Given the description of an element on the screen output the (x, y) to click on. 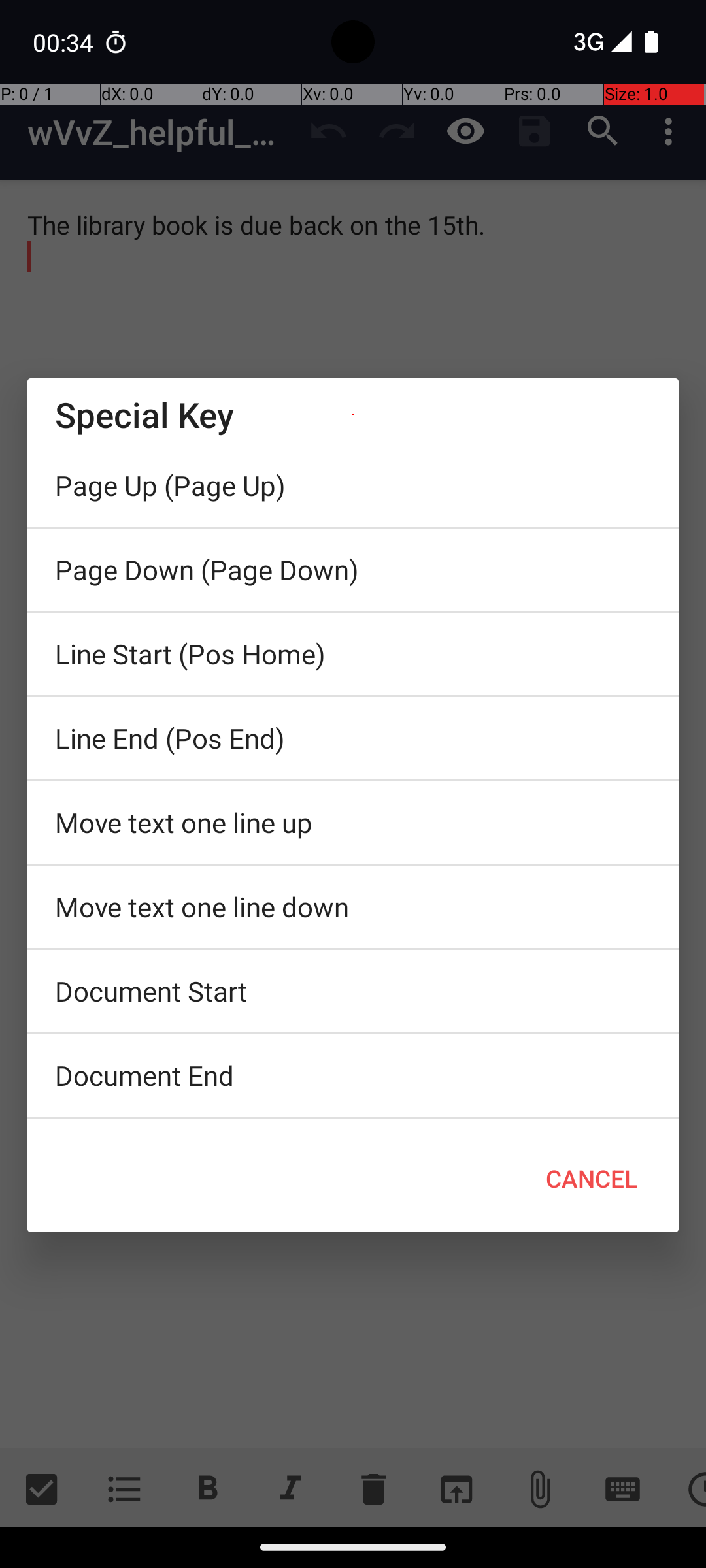
00:34 Element type: android.widget.TextView (64, 41)
